Given the description of an element on the screen output the (x, y) to click on. 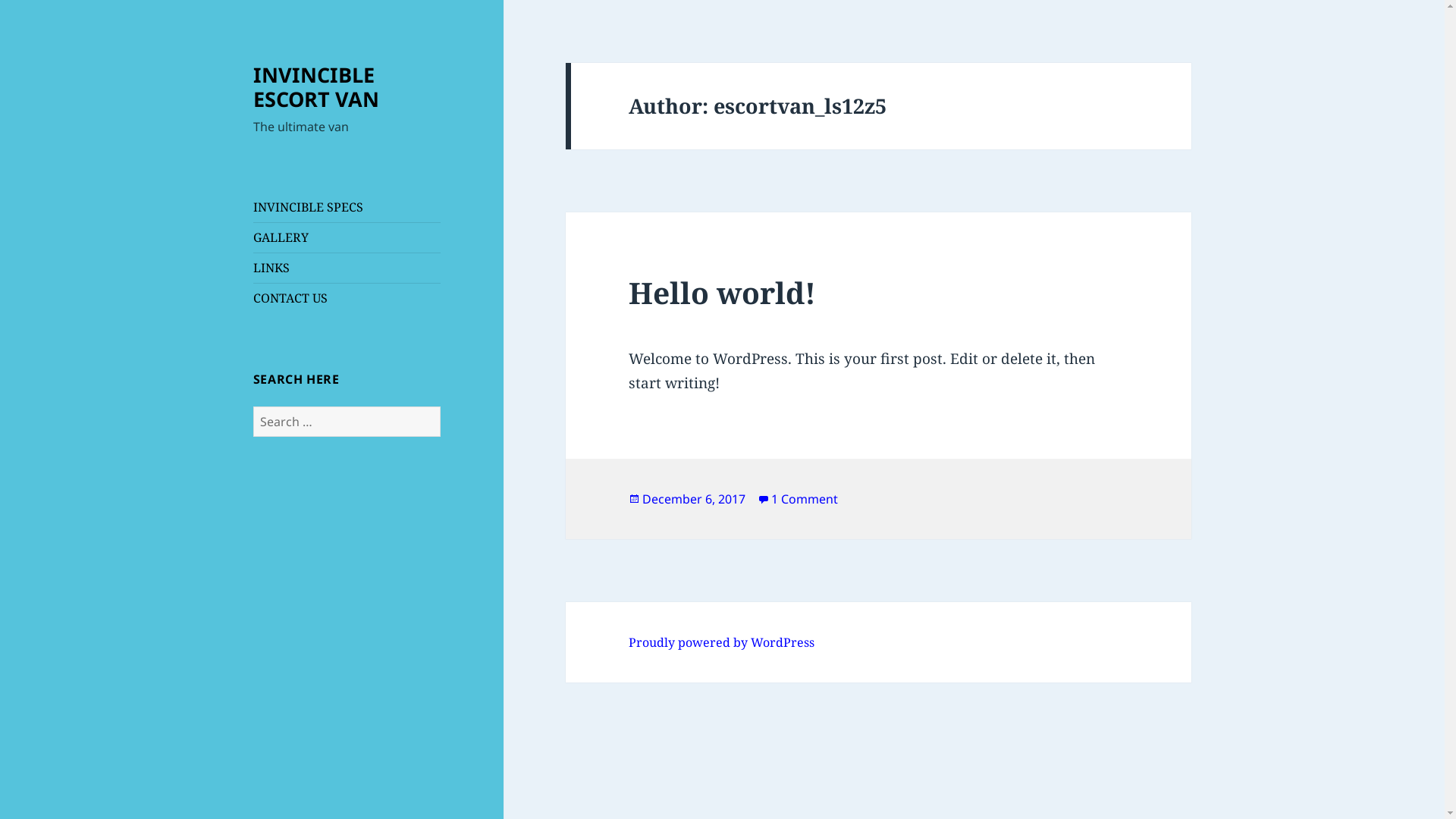
Hello world! Element type: text (721, 292)
Proudly powered by WordPress Element type: text (721, 642)
INVINCIBLE ESCORT VAN Element type: text (316, 86)
INVINCIBLE SPECS Element type: text (308, 206)
December 6, 2017 Element type: text (693, 499)
1 Comment
on Hello world! Element type: text (804, 499)
LINKS Element type: text (271, 267)
GALLERY Element type: text (280, 237)
Search Element type: text (439, 405)
CONTACT US Element type: text (290, 297)
